Given the description of an element on the screen output the (x, y) to click on. 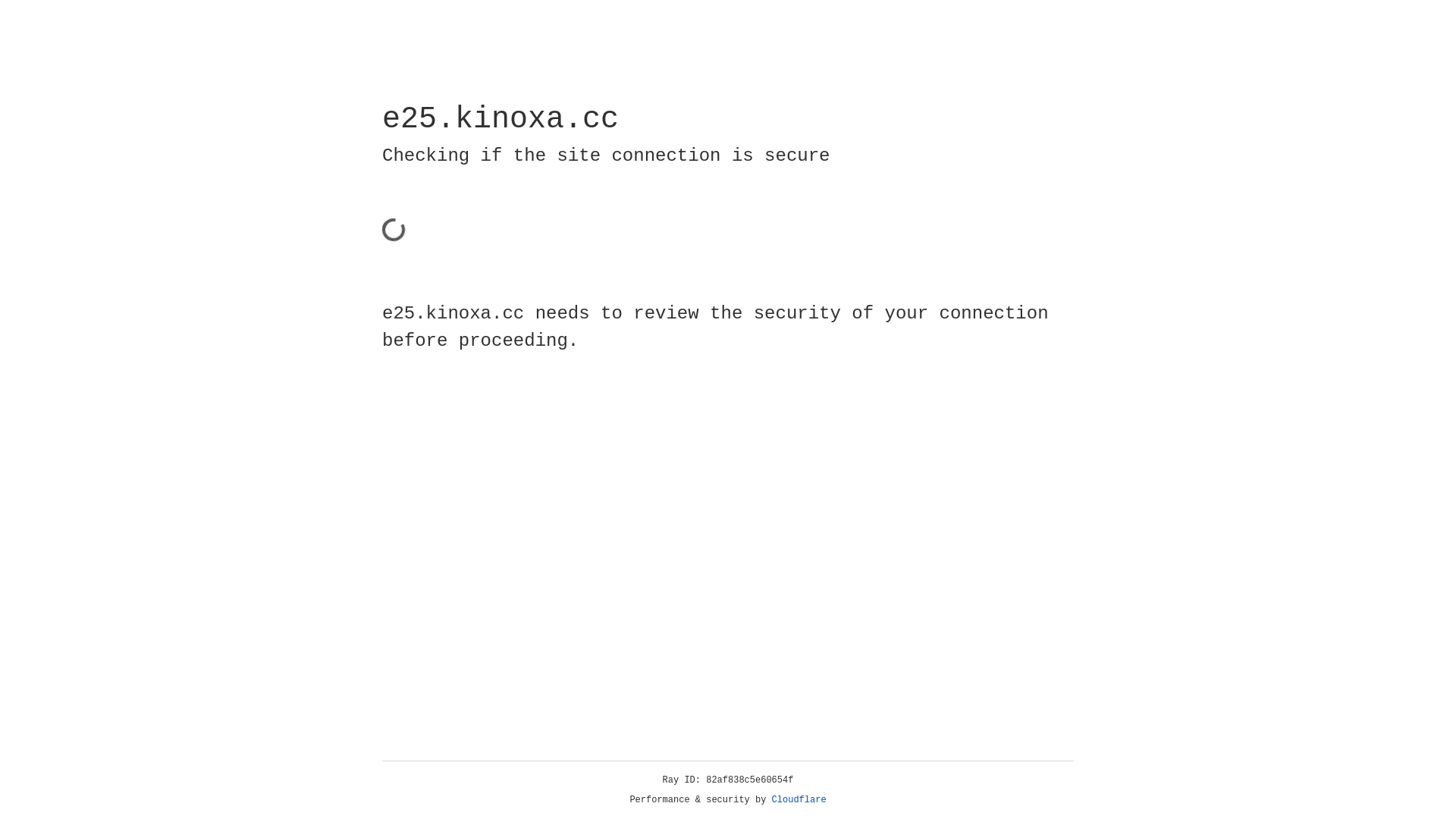
Cloudflare Element type: text (798, 799)
